Given the description of an element on the screen output the (x, y) to click on. 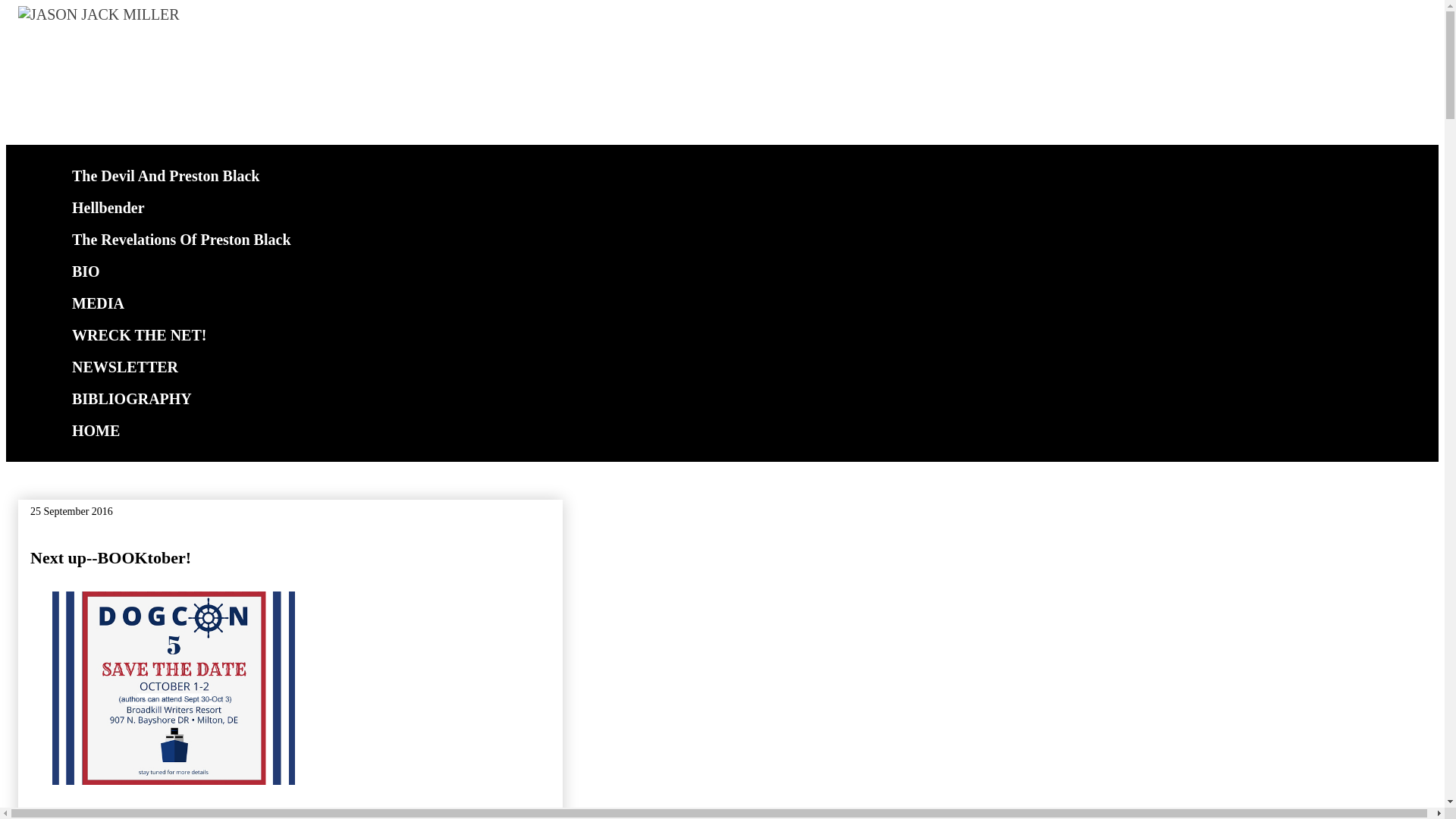
HOME (95, 430)
MEDIA (97, 303)
Next up--BOOKtober! (110, 557)
The Devil And Preston Black (165, 175)
NEWSLETTER (124, 367)
WRECK THE NET! (138, 335)
The Revelations Of Preston Black (181, 239)
BIBLIOGRAPHY (131, 398)
BIO (85, 271)
Hellbender (107, 207)
